Given the description of an element on the screen output the (x, y) to click on. 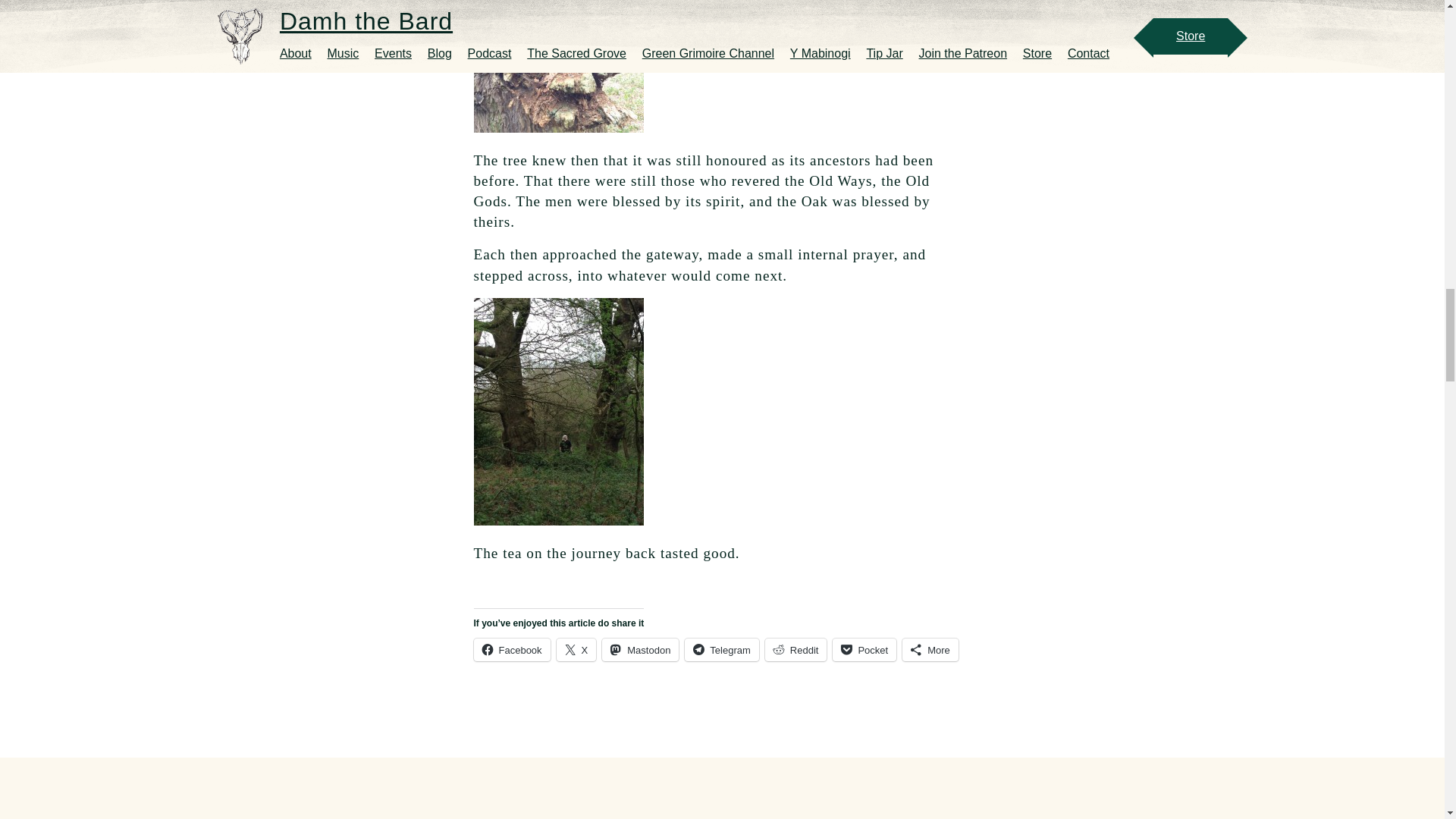
Click to share on Mastodon (640, 649)
Click to share on Reddit (796, 649)
Click to share on X (576, 649)
Click to share on Facebook (511, 649)
Click to share on Telegram (721, 649)
Click to share on Pocket (864, 649)
